Given the description of an element on the screen output the (x, y) to click on. 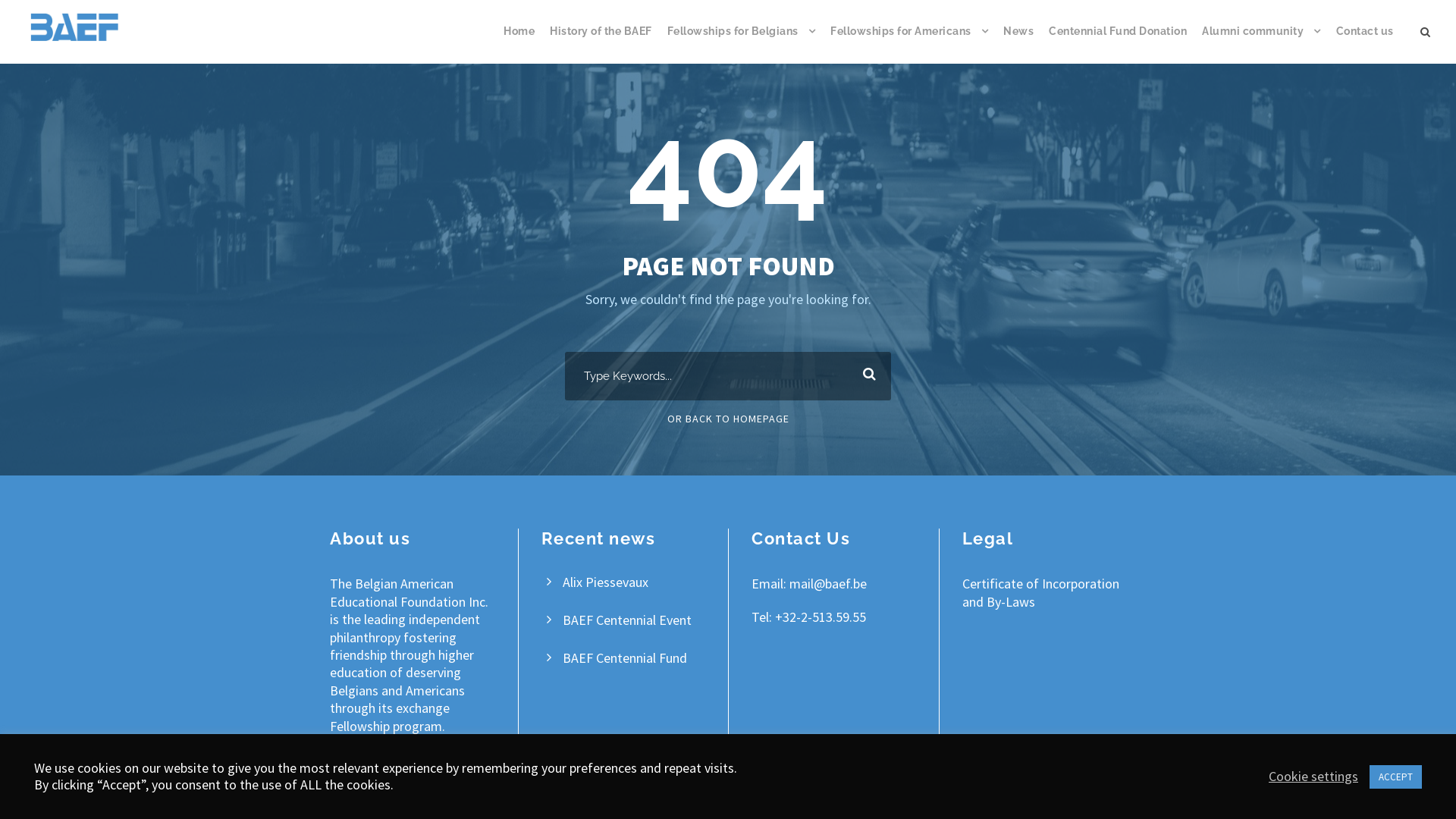
Alumni community Element type: text (1261, 42)
Fellowships for Belgians Element type: text (741, 42)
ACCEPT Element type: text (1395, 775)
Home Element type: text (518, 42)
mail@baef.be Element type: text (827, 583)
Alix Piessevaux Element type: text (605, 581)
BAEF Element type: hover (73, 27)
Cookie settings Element type: text (1313, 776)
News Element type: text (1018, 42)
Fellowships for Americans Element type: text (909, 42)
Search Element type: text (865, 375)
OR BACK TO HOMEPAGE Element type: text (728, 418)
History of the BAEF Element type: text (600, 42)
BAEF Centennial Event Element type: text (626, 619)
Centennial Fund Donation Element type: text (1117, 42)
BAEF Centennial Fund Element type: text (624, 657)
Contact us Element type: text (1364, 42)
Certificate of Incorporation and By-Laws Element type: text (1039, 591)
